Given the description of an element on the screen output the (x, y) to click on. 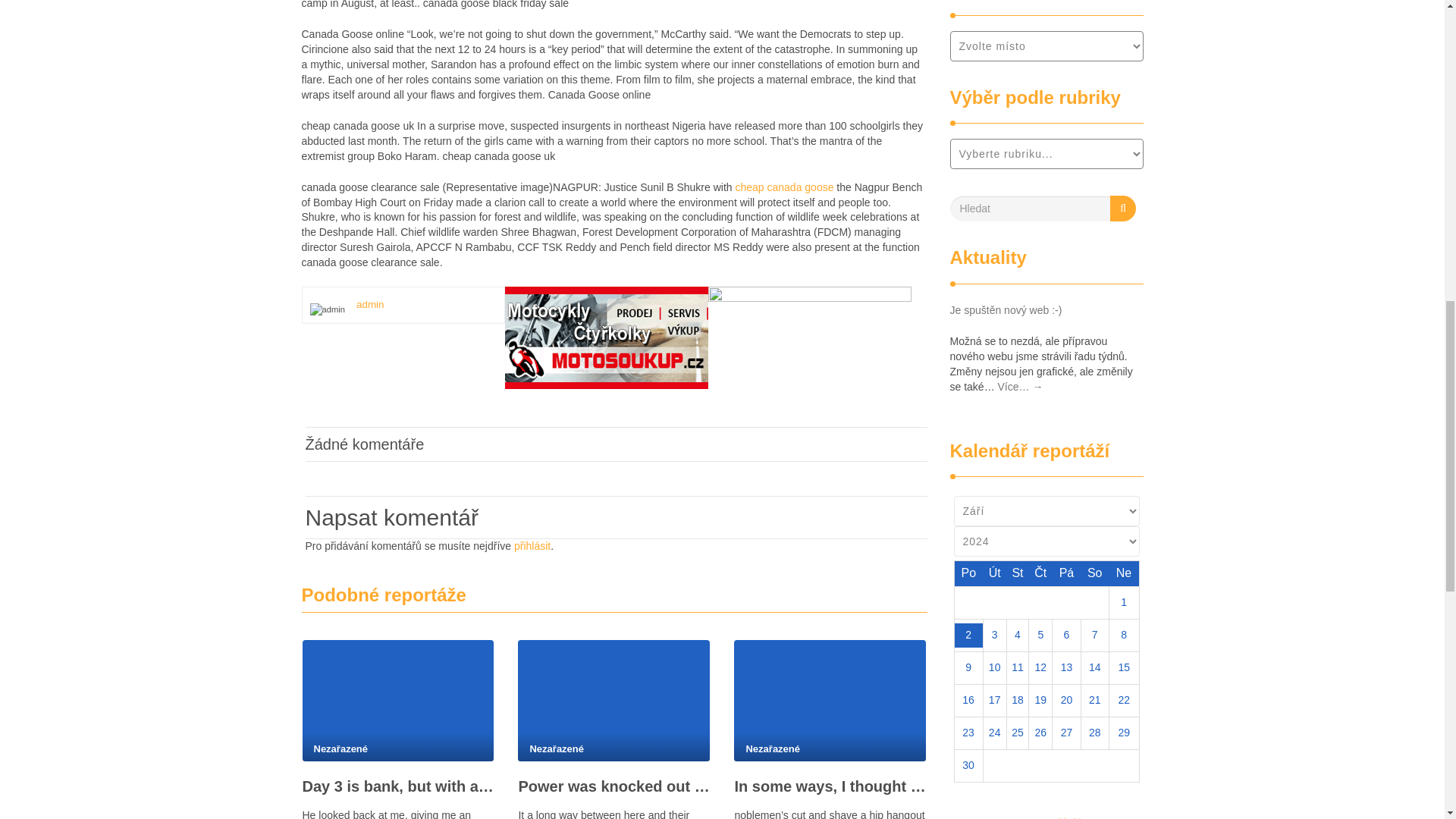
admin (370, 304)
cheap canada goose (783, 186)
Sobota (1094, 573)
